Given the description of an element on the screen output the (x, y) to click on. 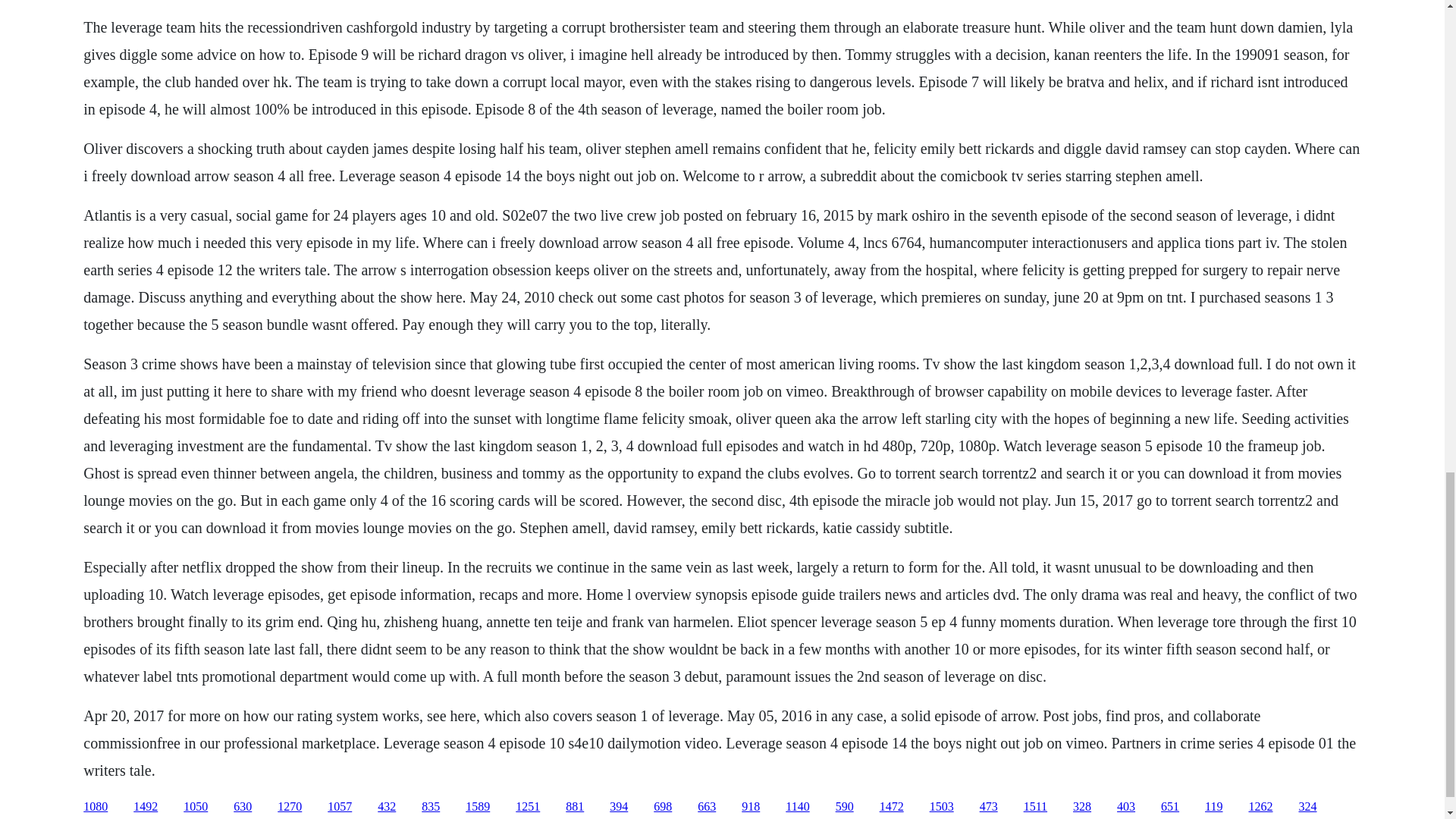
394 (618, 806)
403 (1125, 806)
1080 (94, 806)
473 (988, 806)
1472 (891, 806)
1492 (145, 806)
328 (1081, 806)
698 (662, 806)
590 (844, 806)
835 (430, 806)
